Given the description of an element on the screen output the (x, y) to click on. 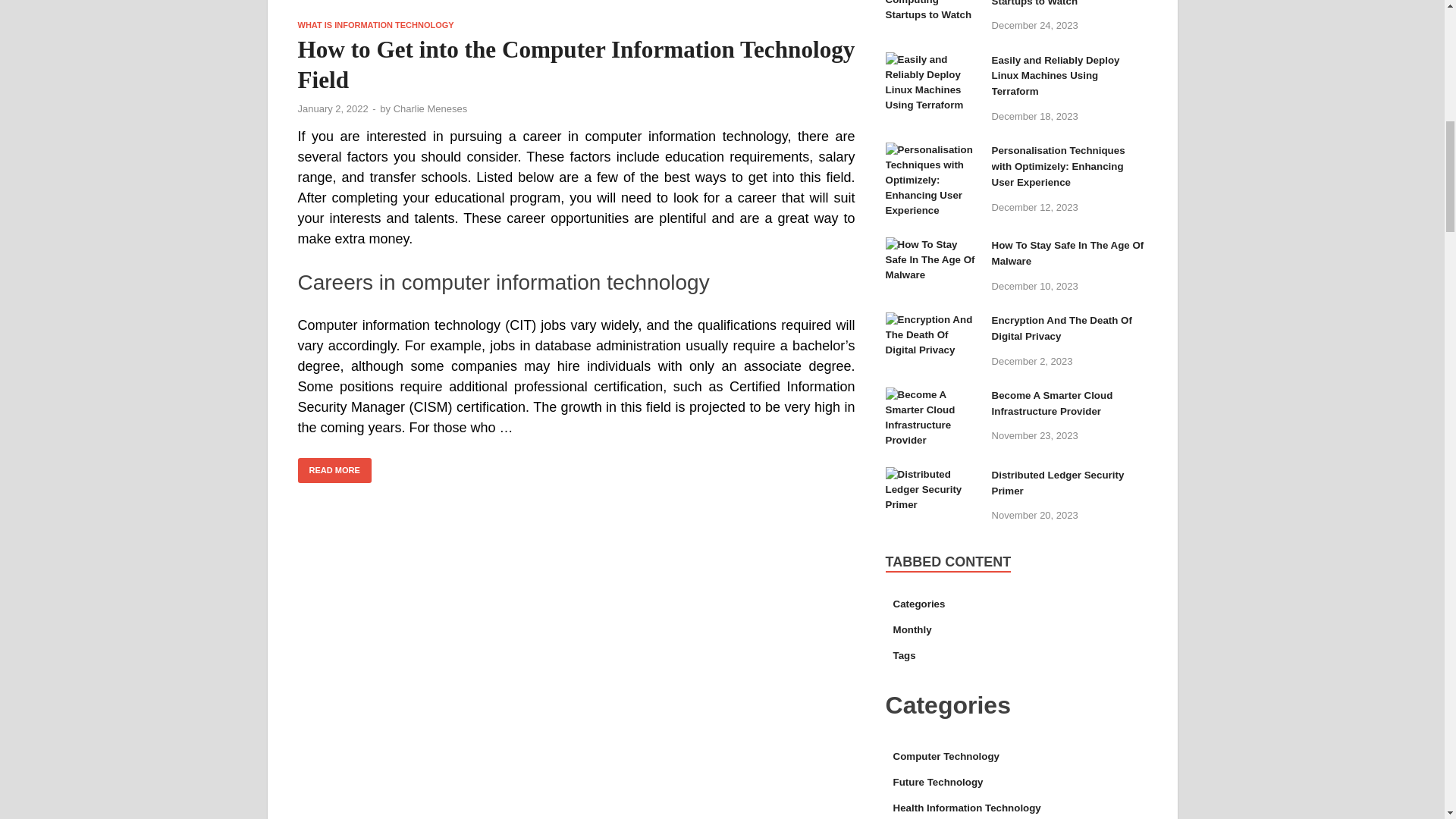
WHAT IS INFORMATION TECHNOLOGY (374, 24)
How To Stay Safe In The Age Of Malware (932, 246)
Easily and Reliably Deploy Linux Machines Using Terraform (932, 61)
READ MORE (334, 470)
January 2, 2022 (332, 108)
How to Get into the Computer Information Technology Field (575, 10)
Encryption And The Death Of Digital Privacy (932, 321)
Become A Smarter Cloud Infrastructure Provider (932, 396)
Distributed Ledger Security Primer (932, 476)
How to Get into the Computer Information Technology Field (575, 65)
Charlie Meneses (430, 108)
